Given the description of an element on the screen output the (x, y) to click on. 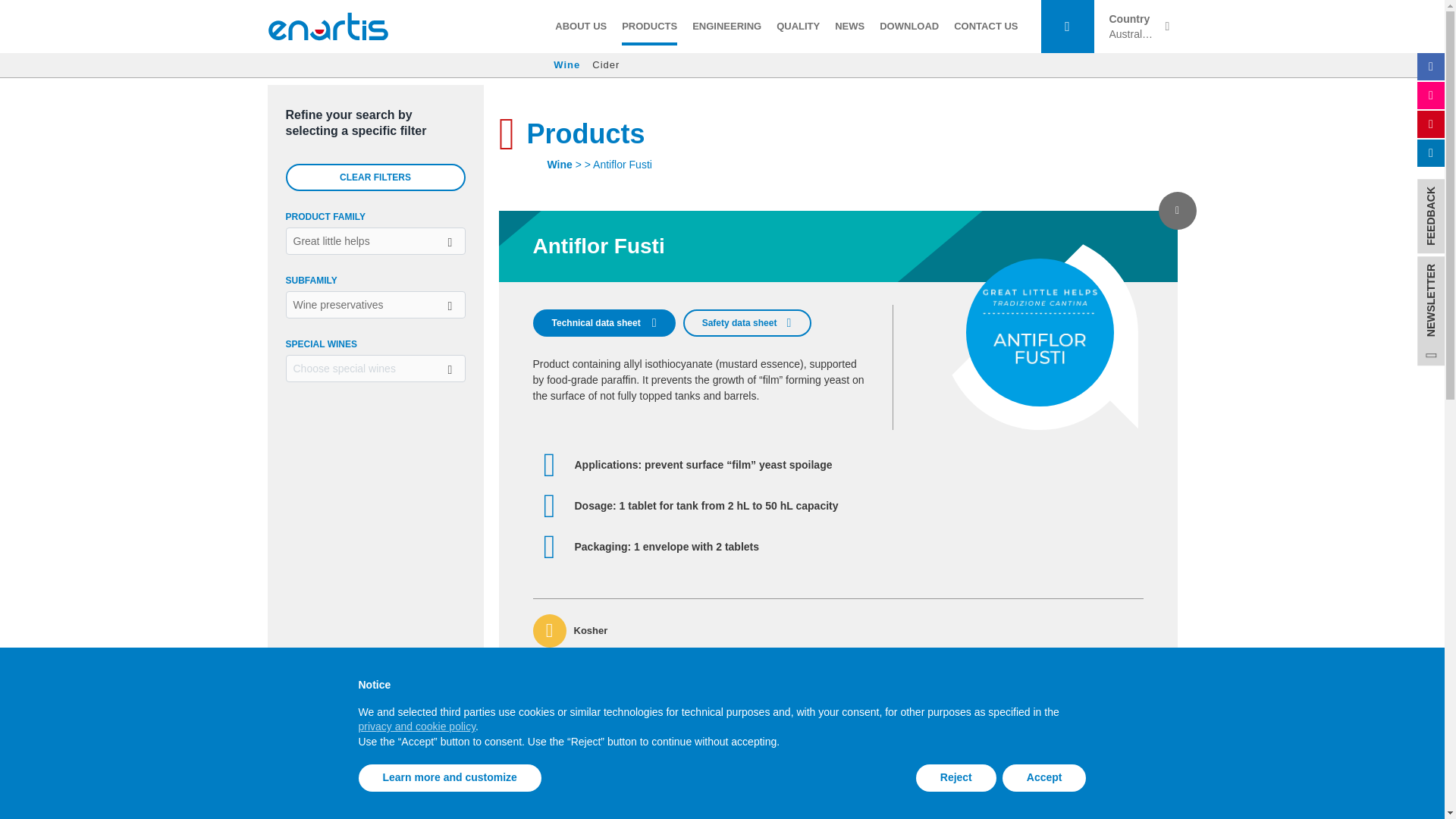
QUALITY (797, 26)
ENGINEERING (726, 26)
Wine (566, 64)
Download Antiflor Fusti safety data sheet (747, 322)
PRODUCTS (649, 26)
DOWNLOAD (909, 26)
CONTACT US (985, 26)
Download Antiflor Fusti technical data sheet (603, 322)
Cider (606, 64)
ABOUT US (580, 26)
